Given the description of an element on the screen output the (x, y) to click on. 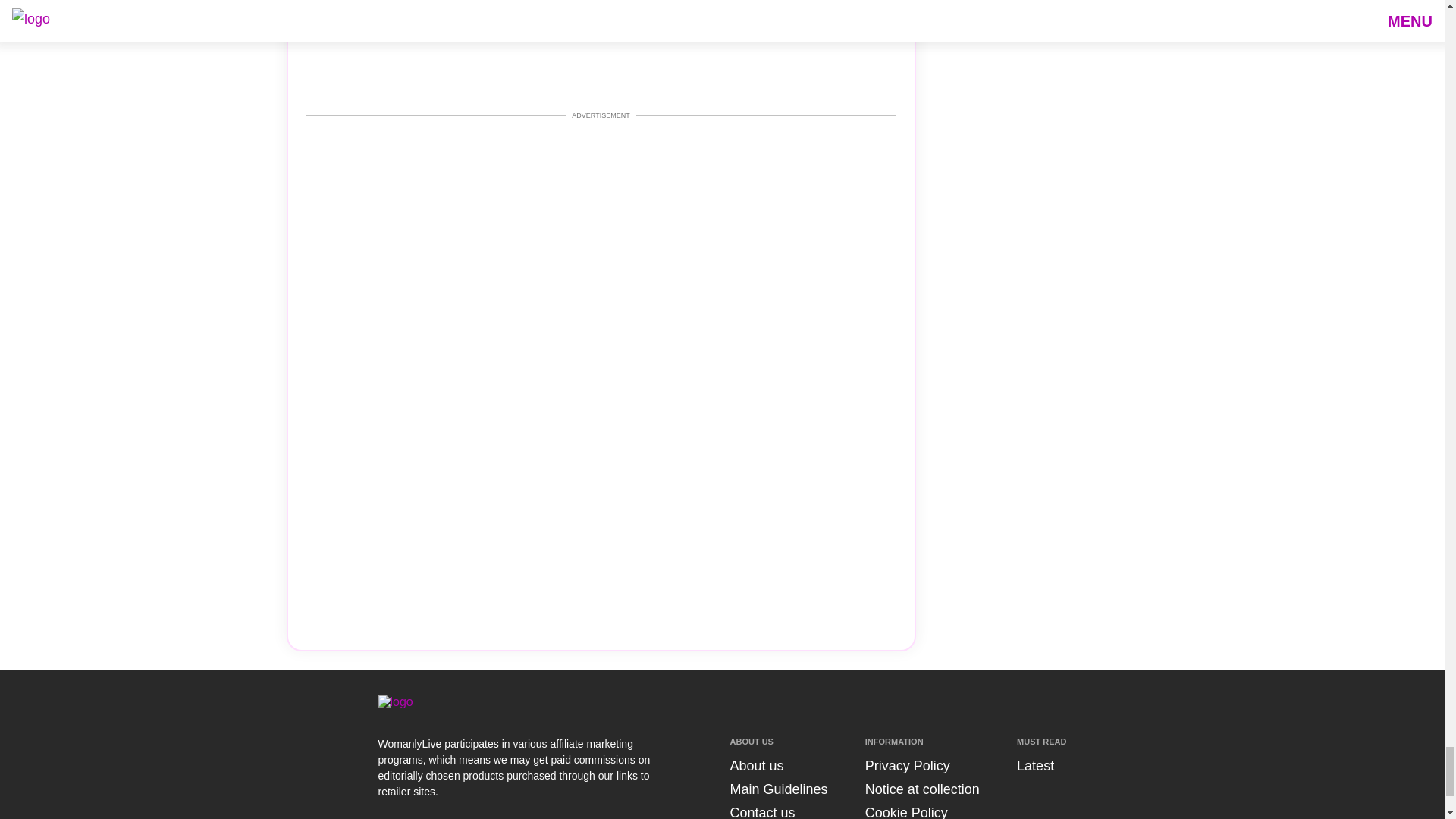
Privacy Policy (907, 765)
Cookie Policy (905, 812)
Contact us (761, 812)
About us (756, 765)
Notice at collection (921, 789)
Main Guidelines (778, 789)
